Given the description of an element on the screen output the (x, y) to click on. 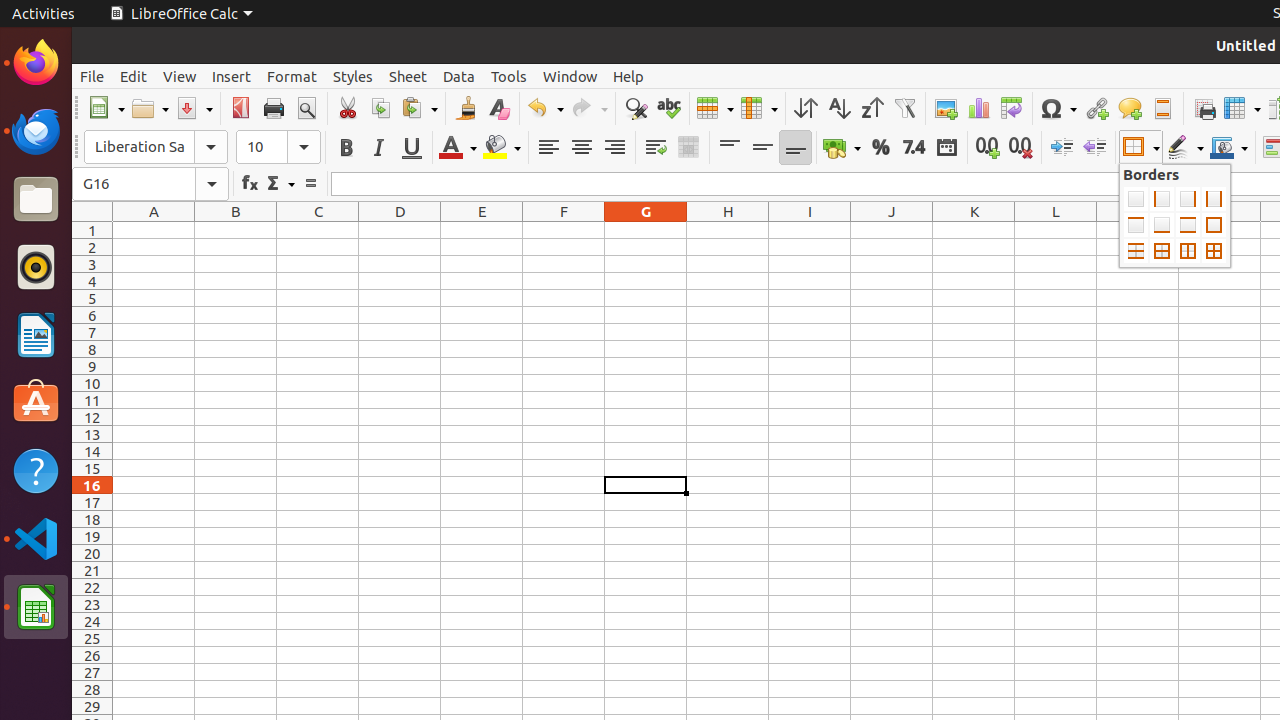
Sort Element type: push-button (805, 108)
Rhythmbox Element type: push-button (36, 267)
Wrap Text Element type: push-button (655, 147)
Pivot Table Element type: push-button (1011, 108)
Clear Element type: push-button (498, 108)
